Given the description of an element on the screen output the (x, y) to click on. 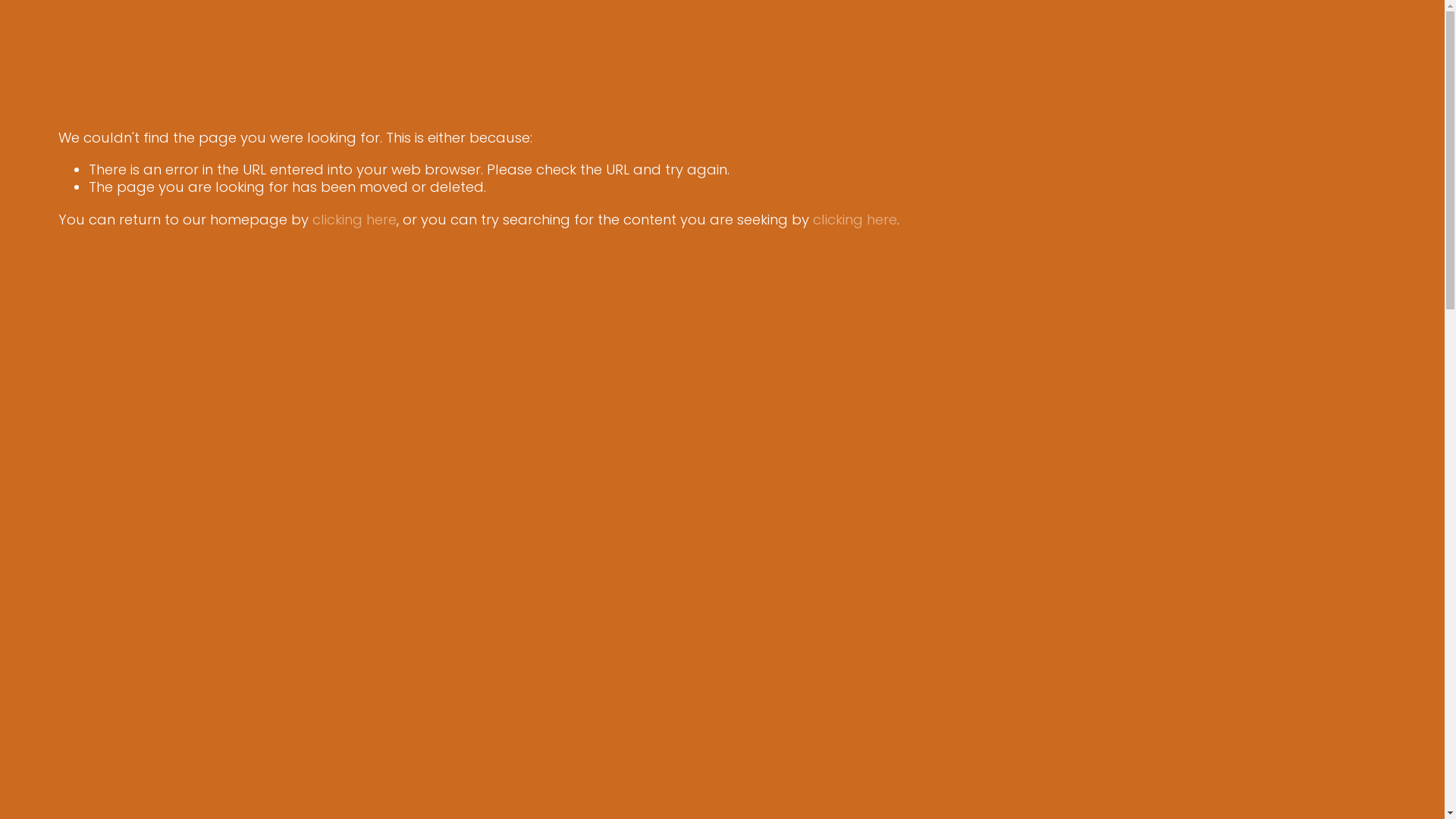
clicking here Element type: text (354, 219)
Sign Up Element type: text (1012, 467)
clicking here Element type: text (854, 219)
